Given the description of an element on the screen output the (x, y) to click on. 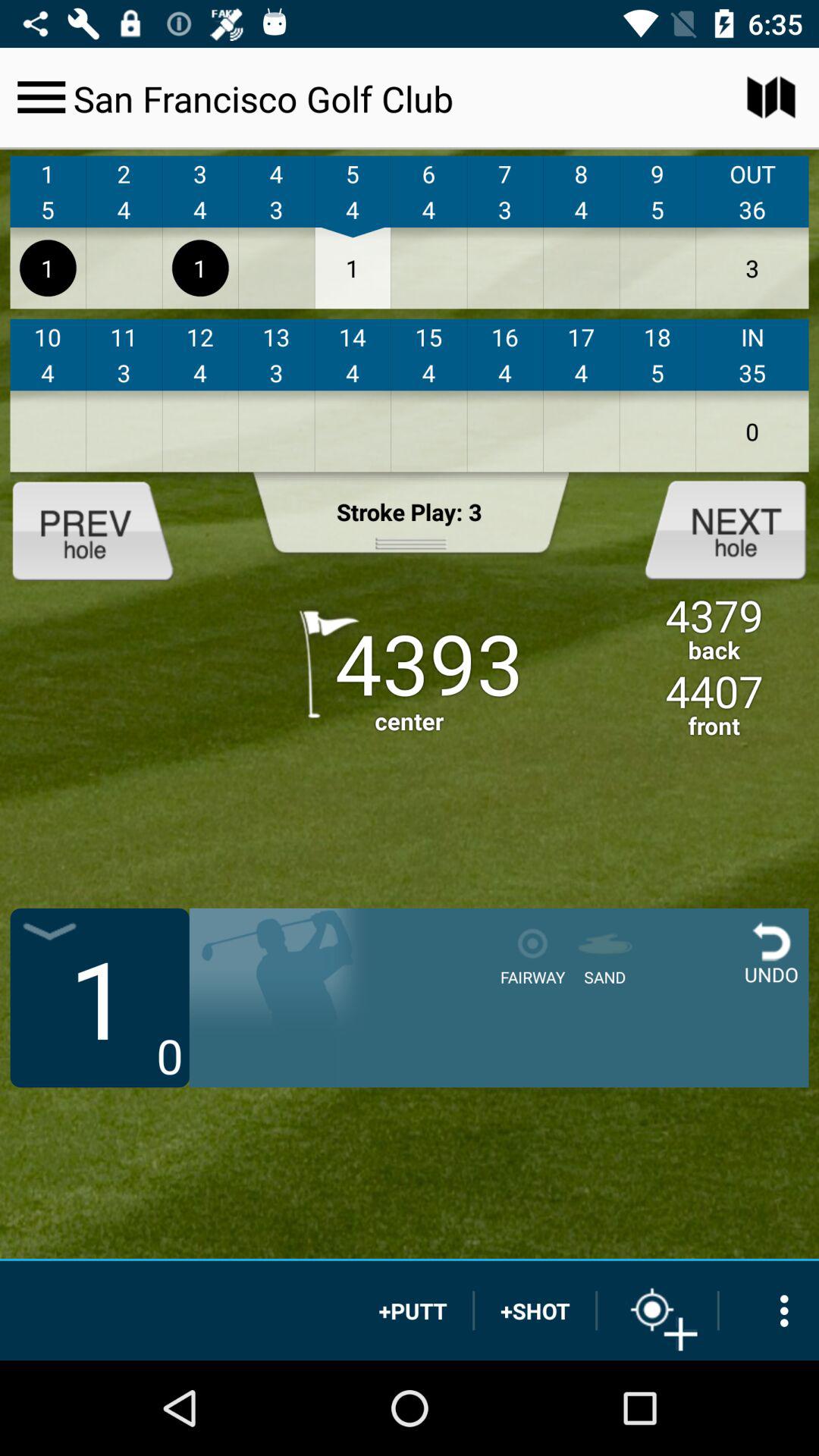
apps (769, 1310)
